Given the description of an element on the screen output the (x, y) to click on. 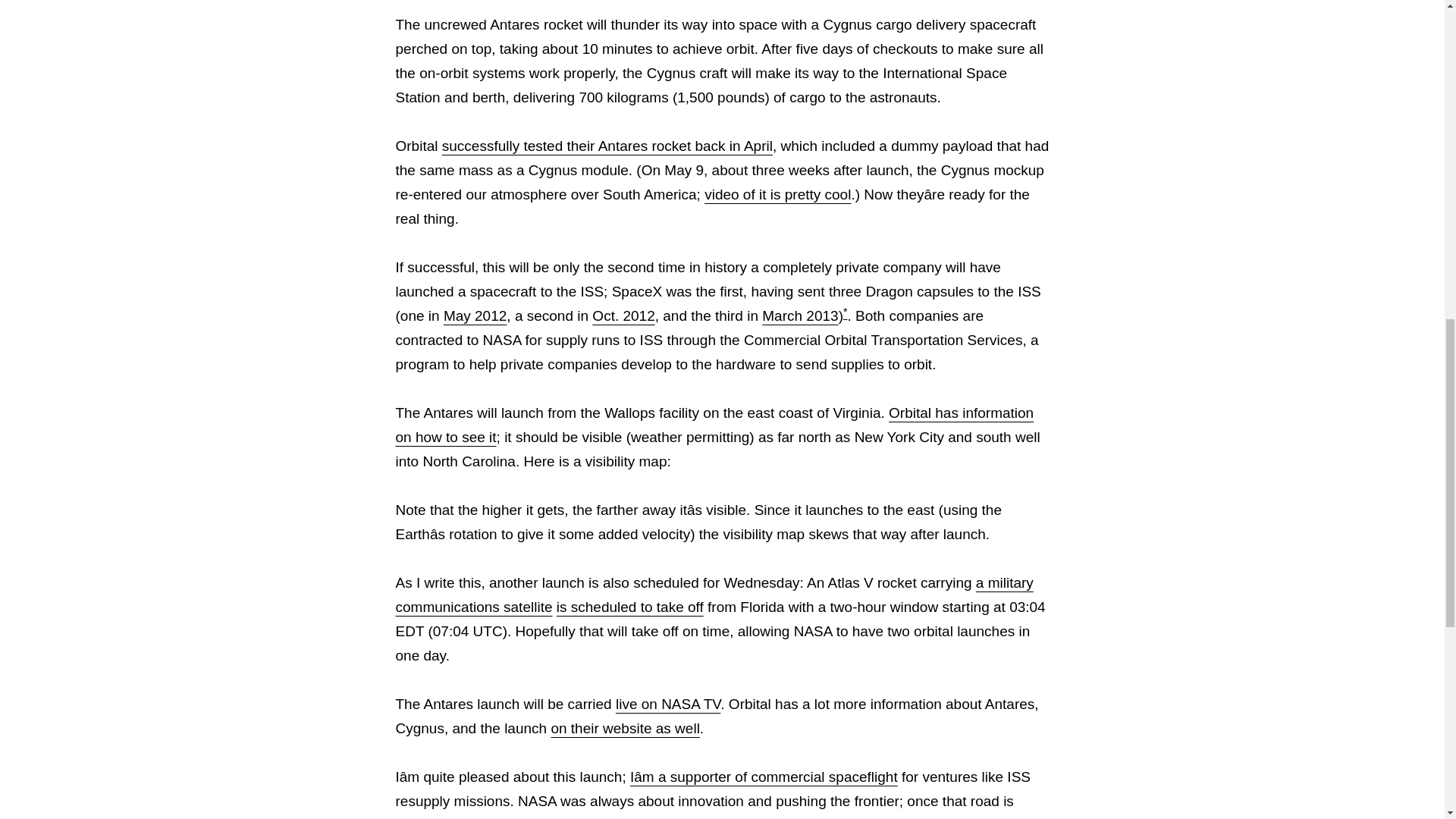
successfully tested their Antares rocket back in April (607, 145)
March 2013 (799, 315)
Oct. 2012 (622, 315)
on their website as well (624, 728)
Orbital has information on how to see it (714, 424)
a military communications satellite (714, 594)
is scheduled to take off (629, 606)
video of it is pretty cool (777, 194)
live on NASA TV (667, 703)
May 2012 (475, 315)
